Given the description of an element on the screen output the (x, y) to click on. 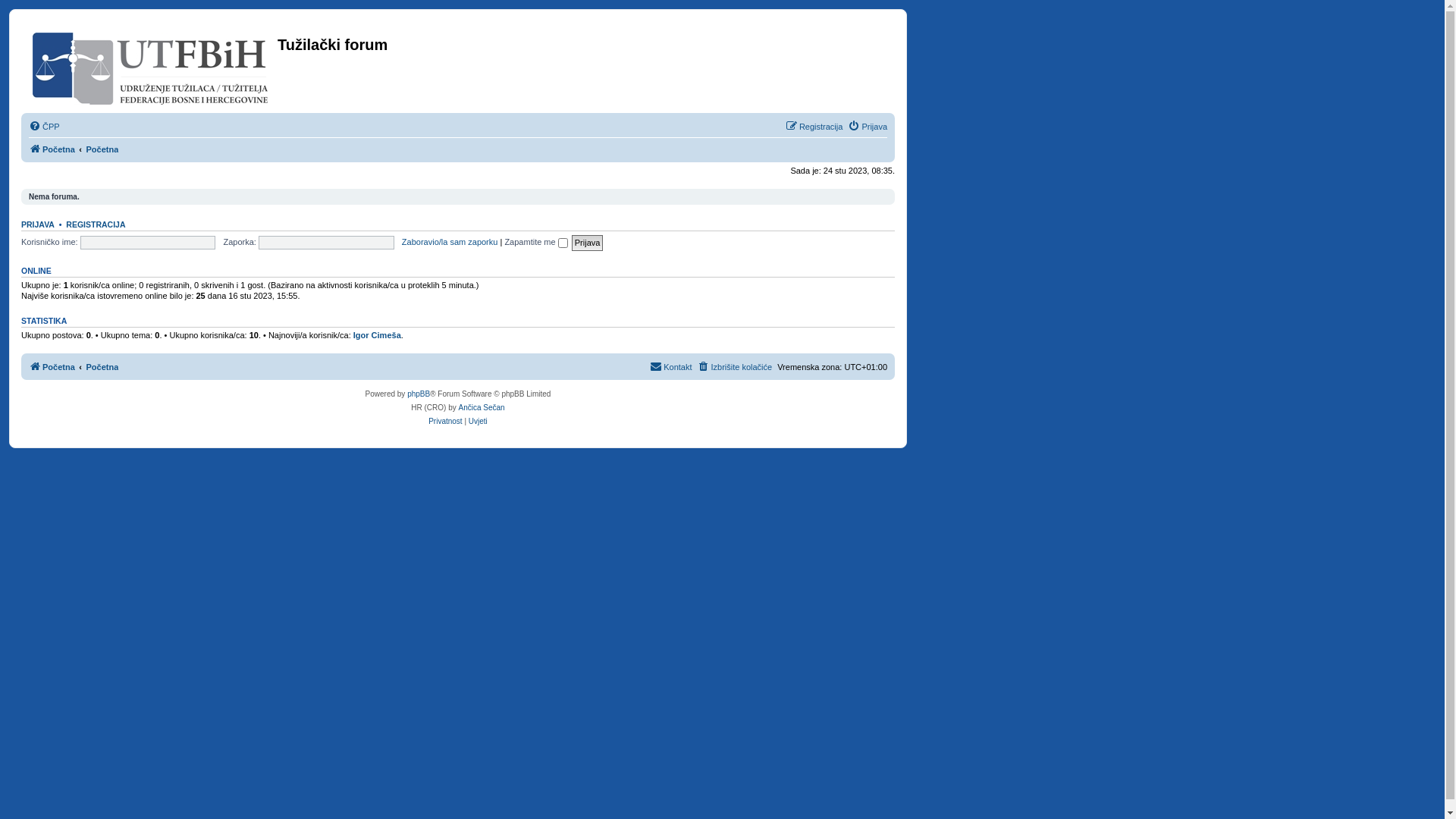
REGISTRACIJA Element type: text (95, 224)
Zaboravio/la sam zaporku Element type: text (449, 241)
Prijava Element type: text (587, 243)
phpBB Element type: text (418, 394)
Kontakt Element type: text (670, 366)
Privatnost Element type: text (444, 421)
Uvjeti Element type: text (477, 421)
PRIJAVA Element type: text (37, 224)
Prijava Element type: text (867, 126)
Zaporka Element type: hover (326, 242)
Registracija Element type: text (813, 126)
